Given the description of an element on the screen output the (x, y) to click on. 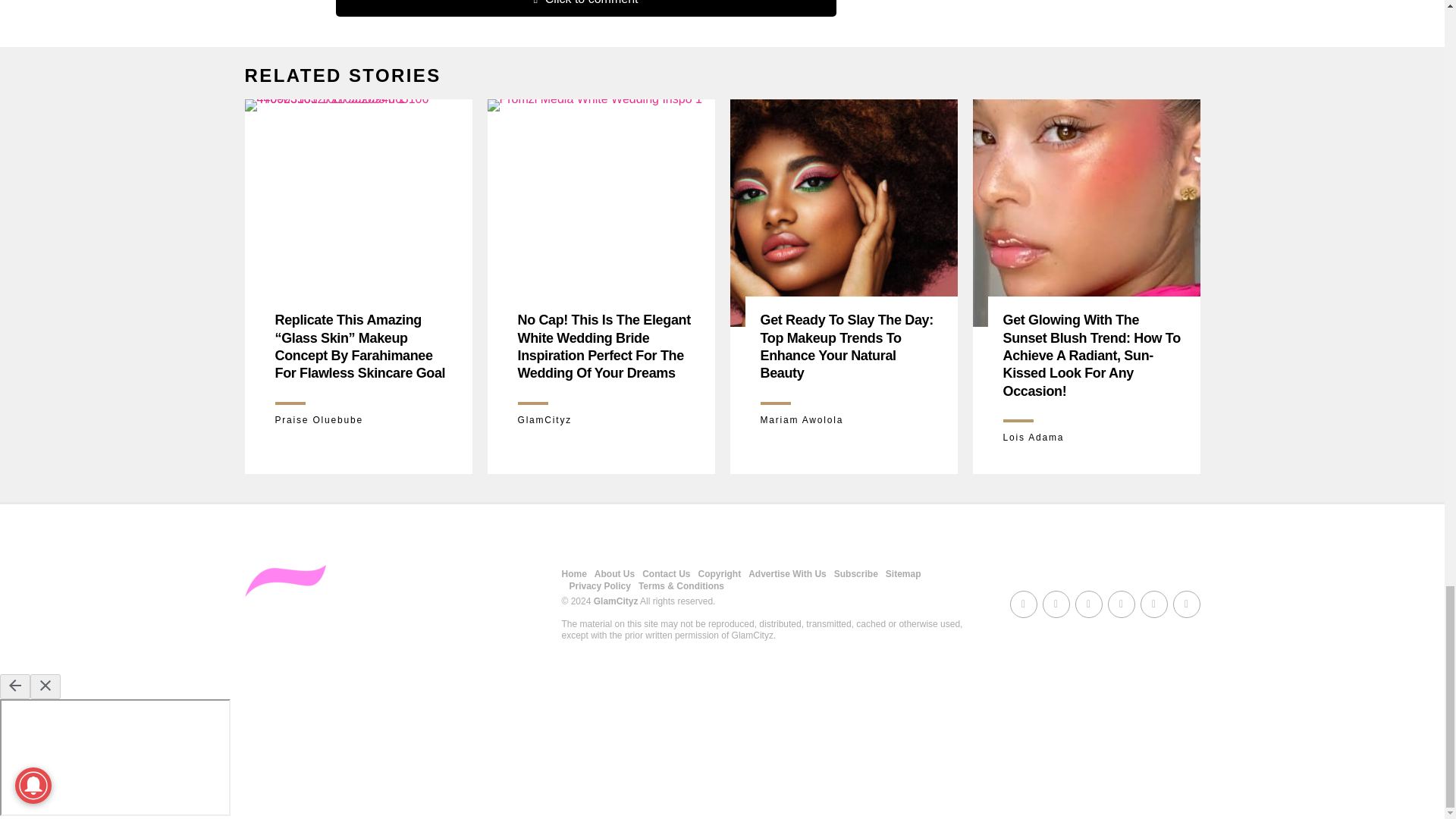
Posts by GlamCityz (544, 419)
Posts by Praise Oluebube (318, 419)
Posts by Lois Adama (1033, 437)
Posts by Mariam Awolola (801, 419)
